Given the description of an element on the screen output the (x, y) to click on. 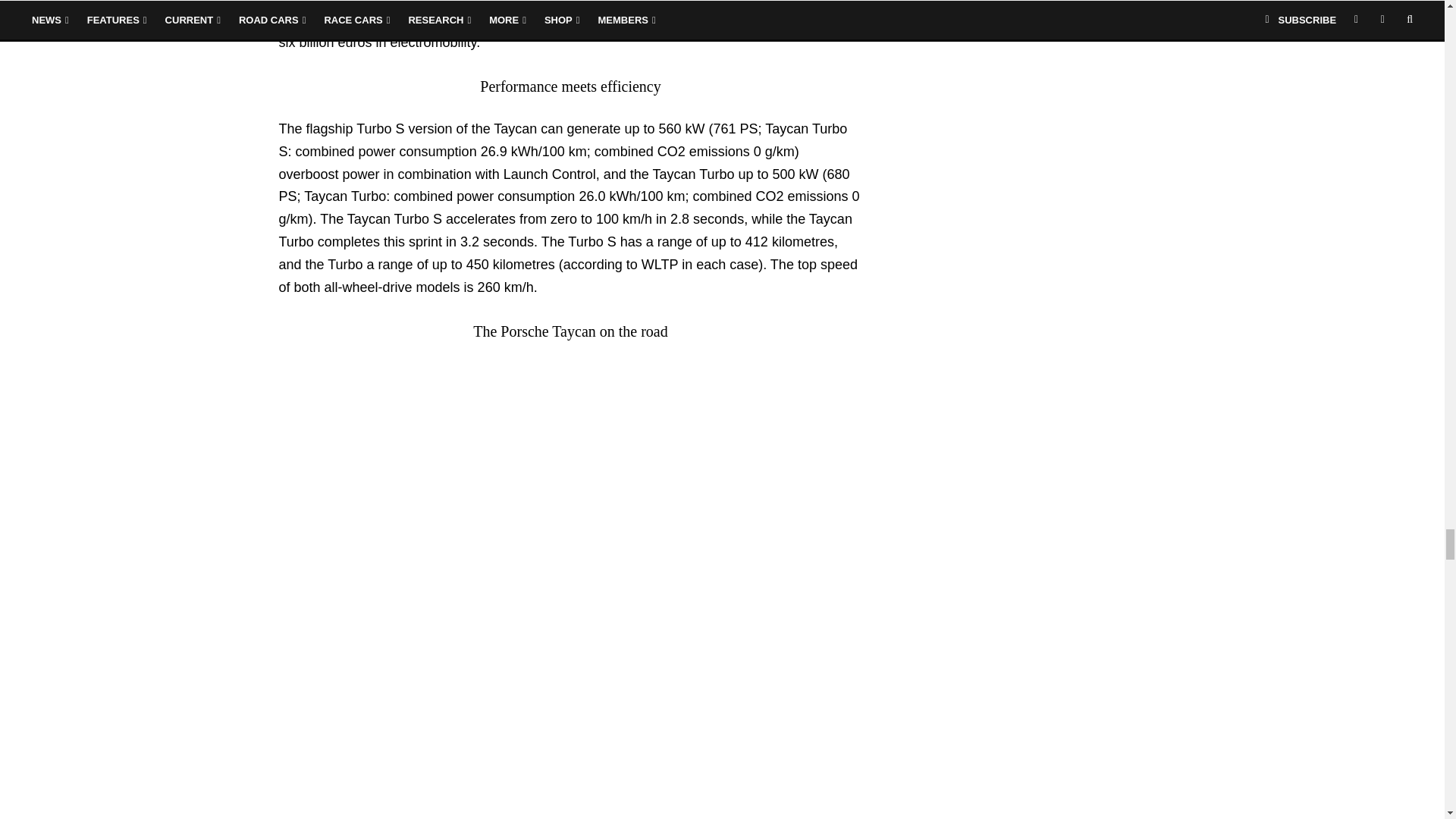
Taycan Turbo S, 2019, Porsche AG (392, 593)
Taycan Turbo S, 2019, Porsche AG (392, 713)
Taycan Turbo, 2019, Porsche AG (392, 472)
